Given the description of an element on the screen output the (x, y) to click on. 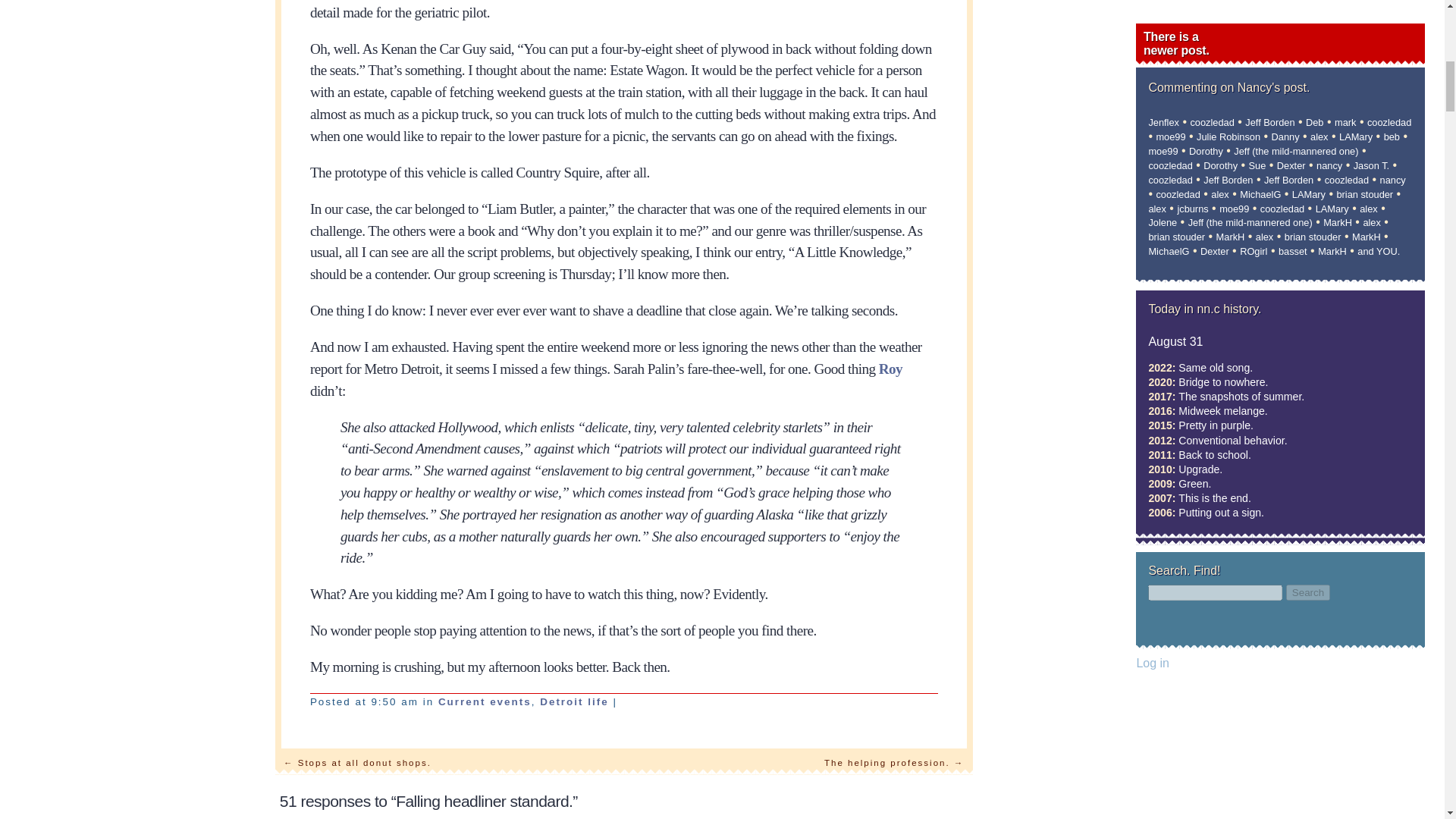
Detroit life (574, 701)
Current events (484, 701)
Roy (890, 368)
